Given the description of an element on the screen output the (x, y) to click on. 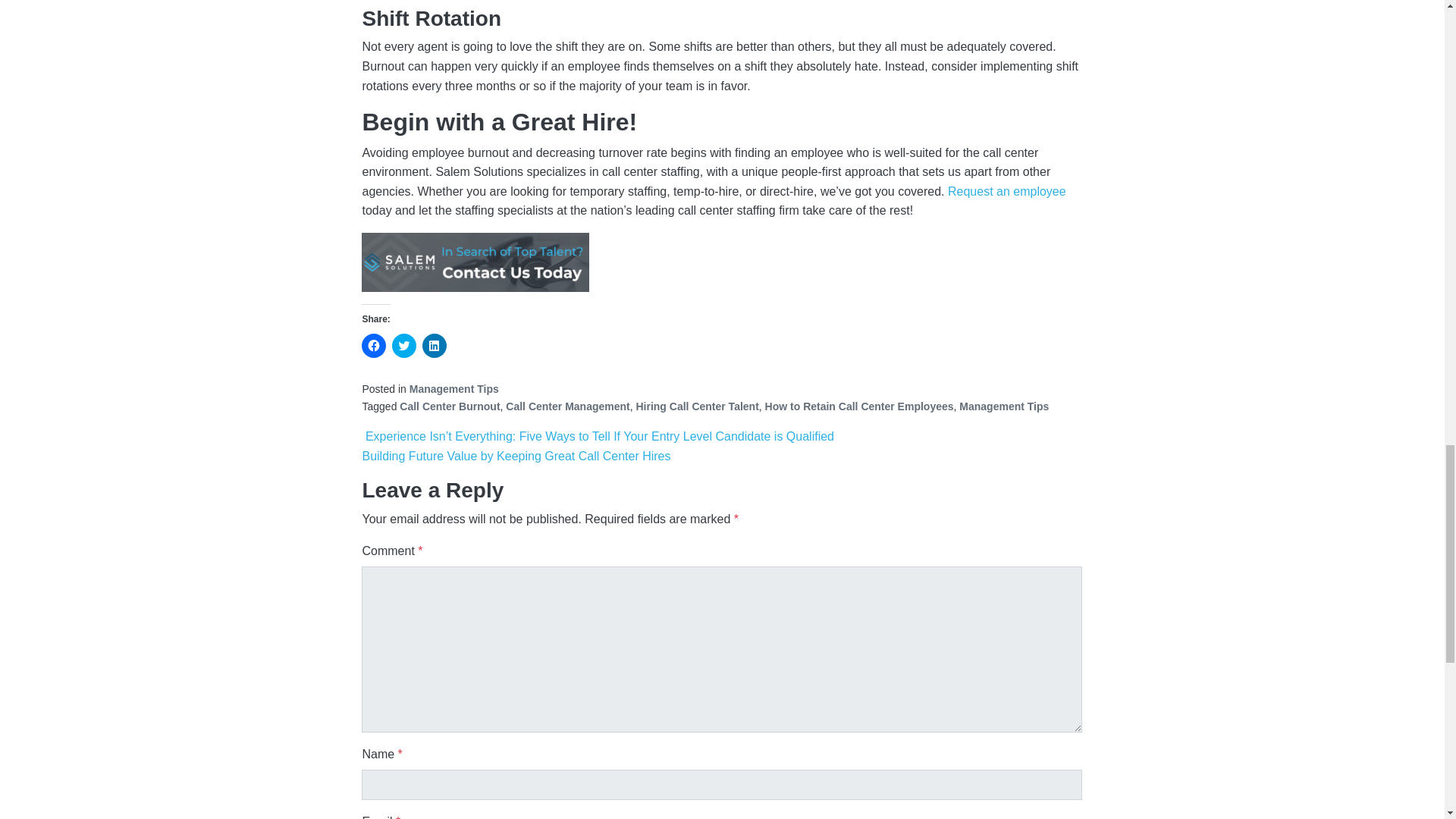
Call Center Burnout (448, 406)
Management Tips (454, 388)
Request an employee (1006, 191)
How to Retain Call Center Employees (859, 406)
Management Tips (1003, 406)
Hiring Call Center Talent (696, 406)
Call Center Management (566, 406)
